Given the description of an element on the screen output the (x, y) to click on. 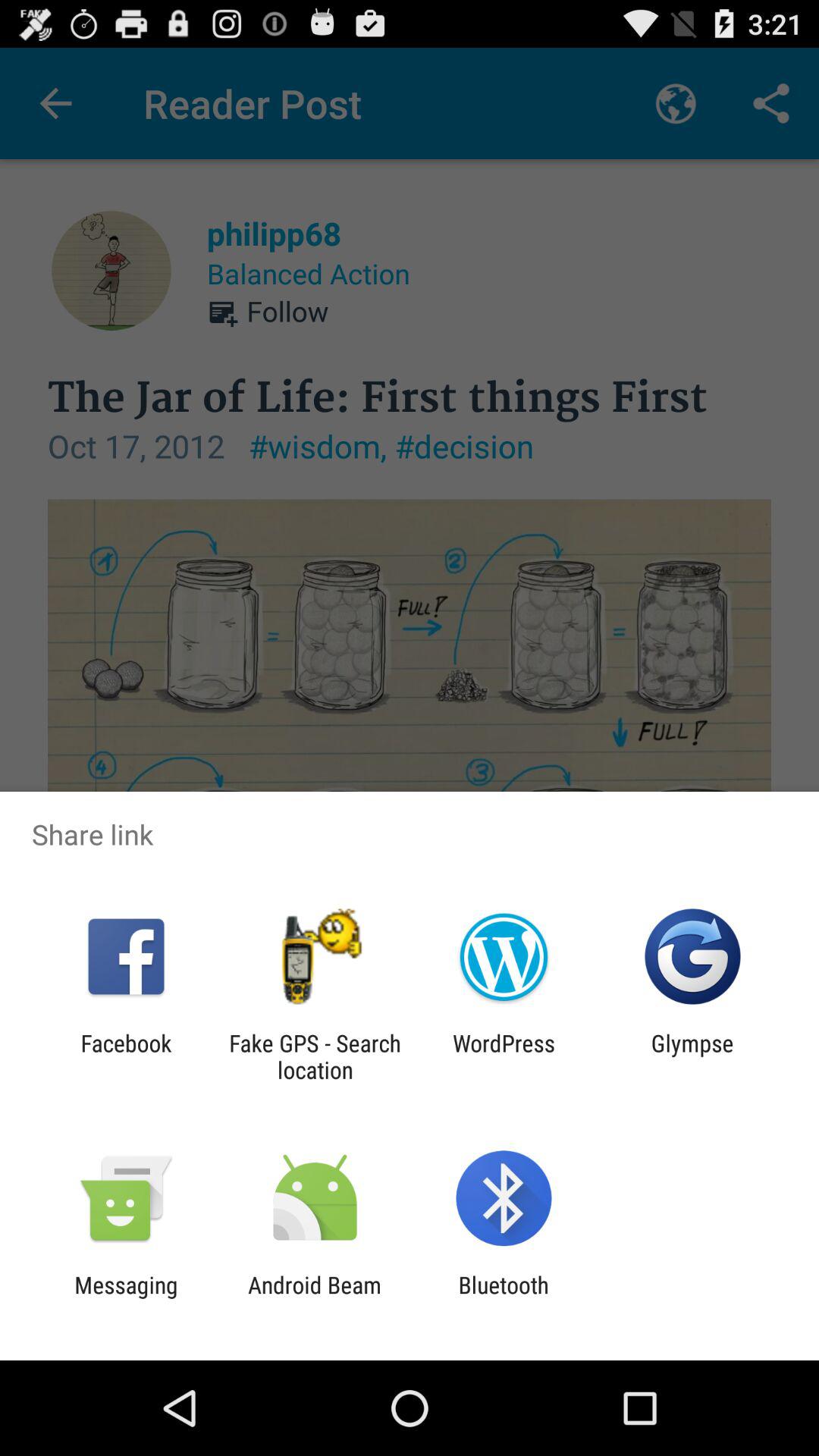
jump until the wordpress item (503, 1056)
